Given the description of an element on the screen output the (x, y) to click on. 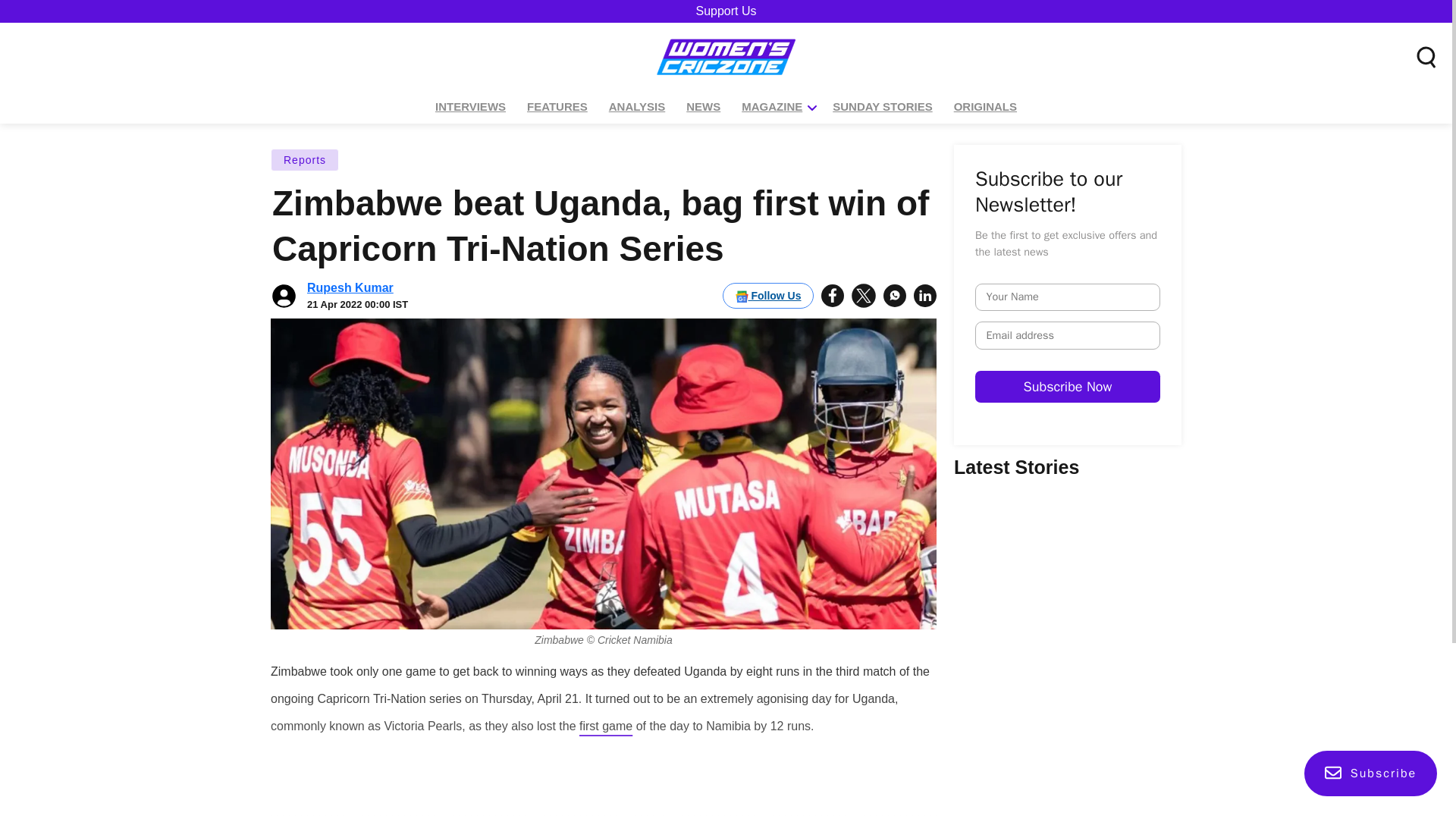
Reports (304, 159)
MAGAZINE (772, 106)
Subscribe Now (1185, 429)
Follow Us (767, 295)
Rupesh Kumar (350, 287)
ORIGINALS (985, 106)
first game (605, 725)
NEWS (703, 106)
FEATURES (556, 106)
SUNDAY STORIES (882, 106)
ANALYSIS (636, 106)
INTERVIEWS (470, 106)
